Given the description of an element on the screen output the (x, y) to click on. 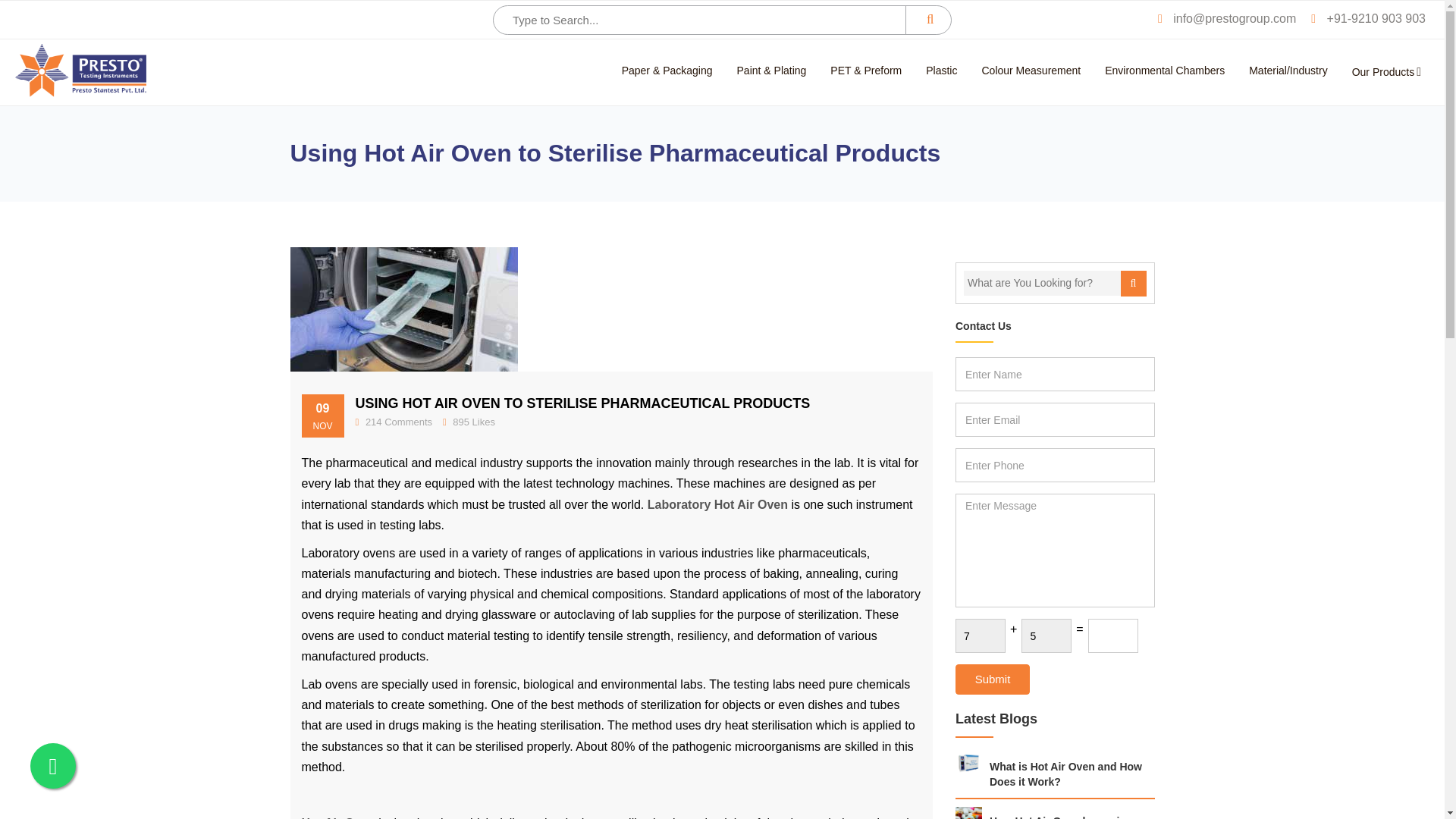
How Hot Air Oven becoming Vital in Pharmaceutical Industry? (1054, 816)
Submit (992, 679)
What is Hot Air Oven and How Does it Work? (1054, 775)
5 (1046, 635)
Plastic (941, 71)
Colour Measurement (1031, 71)
Laboratory Hot Air Oven (717, 503)
Opens a widget where you can chat to one of our agents (1387, 792)
Our Products (1385, 71)
7 (980, 635)
Environmental Chambers (1164, 71)
Hot Air Oven (338, 817)
